Given the description of an element on the screen output the (x, y) to click on. 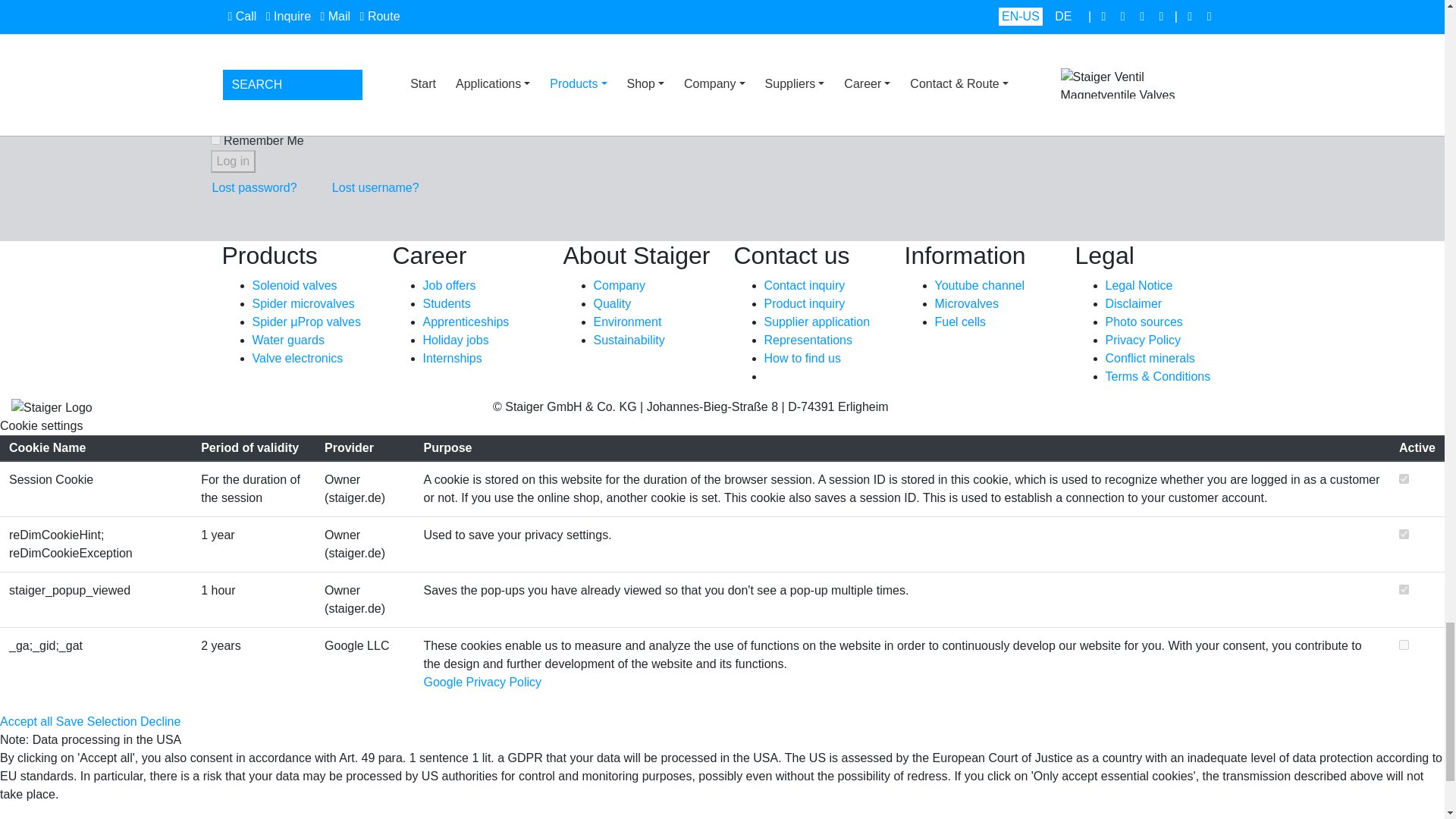
Quality (611, 303)
Spider microvalves (302, 303)
Company (618, 285)
Water guards (287, 339)
on (1404, 644)
Students (446, 303)
Solenoid valves (293, 285)
Apprenticeships (466, 321)
Internships (452, 358)
on (1404, 533)
